Given the description of an element on the screen output the (x, y) to click on. 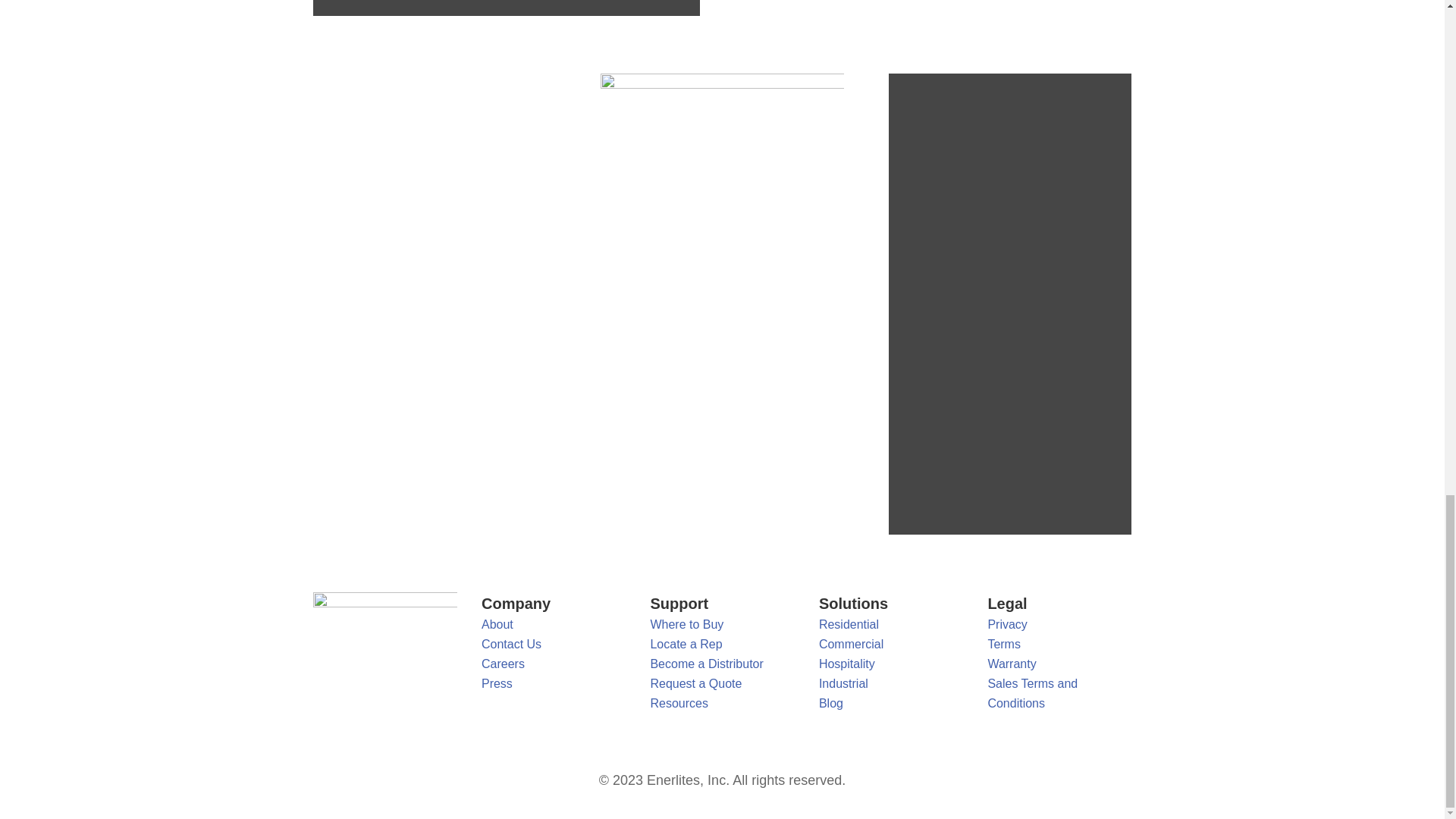
57006 (721, 194)
Follow on Youtube (400, 654)
Follow on Facebook (339, 654)
Follow on Instagram (430, 654)
Follow on LinkedIn (369, 654)
